Given the description of an element on the screen output the (x, y) to click on. 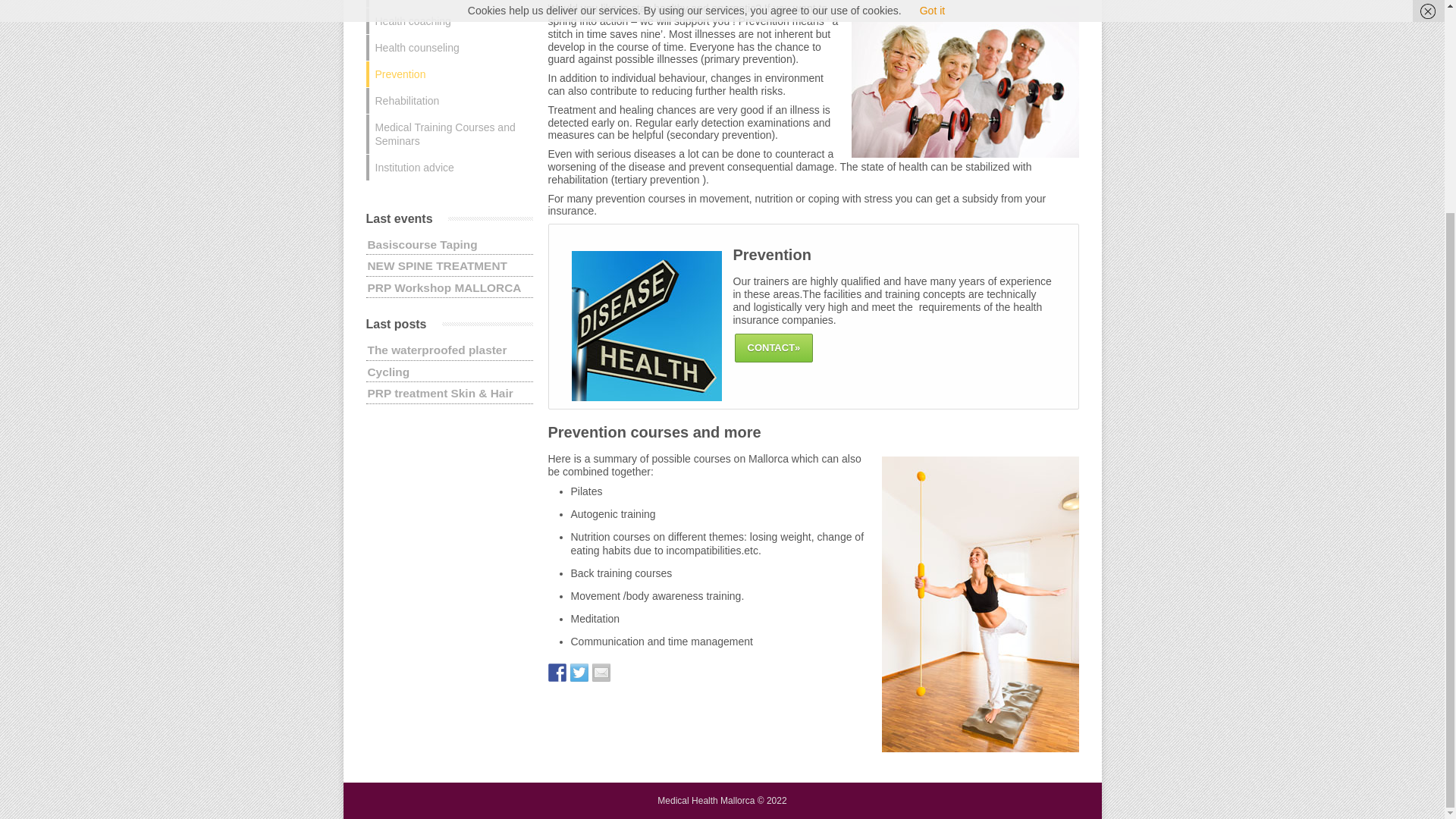
Share on Facebook (556, 672)
Basiscourse Taping (421, 244)
Health coaching (448, 21)
Prevention (448, 73)
Rehabilitation (448, 100)
Fire of life (448, 3)
The waterproofed plaster (436, 349)
Institution advice (448, 167)
Health counseling (448, 47)
PRP Workshop MALLORCA (443, 287)
